Given the description of an element on the screen output the (x, y) to click on. 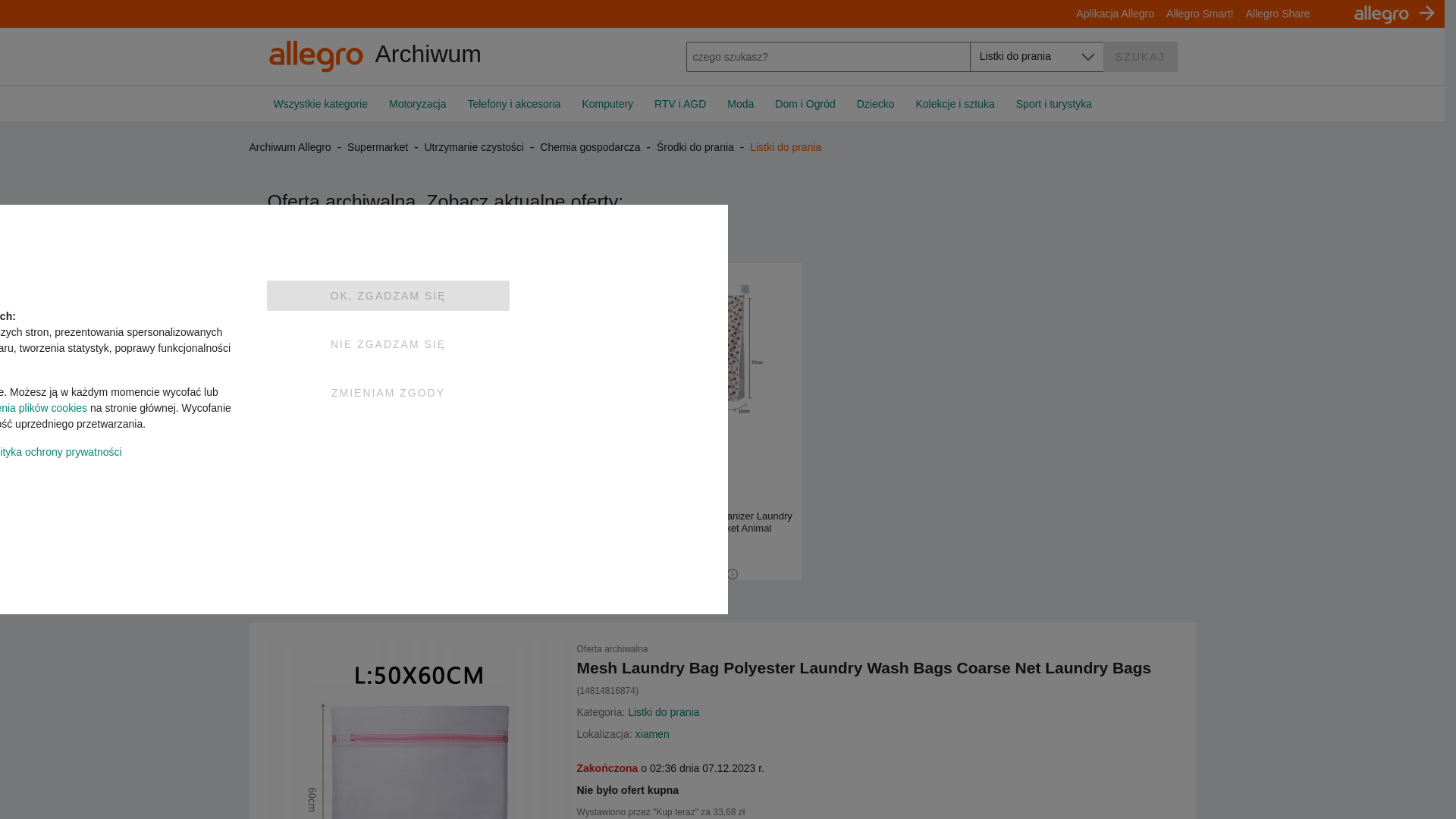
Kolekcje i sztuka (955, 103)
Moda (740, 103)
RTV i AGD (679, 103)
Archiwum (422, 55)
Aplikacja Allegro (1115, 13)
Dziecko (875, 103)
Sport i turystyka (1049, 103)
ZMIENIAM ZGODY (387, 392)
Wszystkie kategorie (325, 103)
Komputery (606, 103)
Motoryzacja (417, 103)
Allegro Share (1278, 13)
Supermarket (376, 146)
Archiwum Allegro (422, 55)
SZUKAJ (1140, 55)
